Given the description of an element on the screen output the (x, y) to click on. 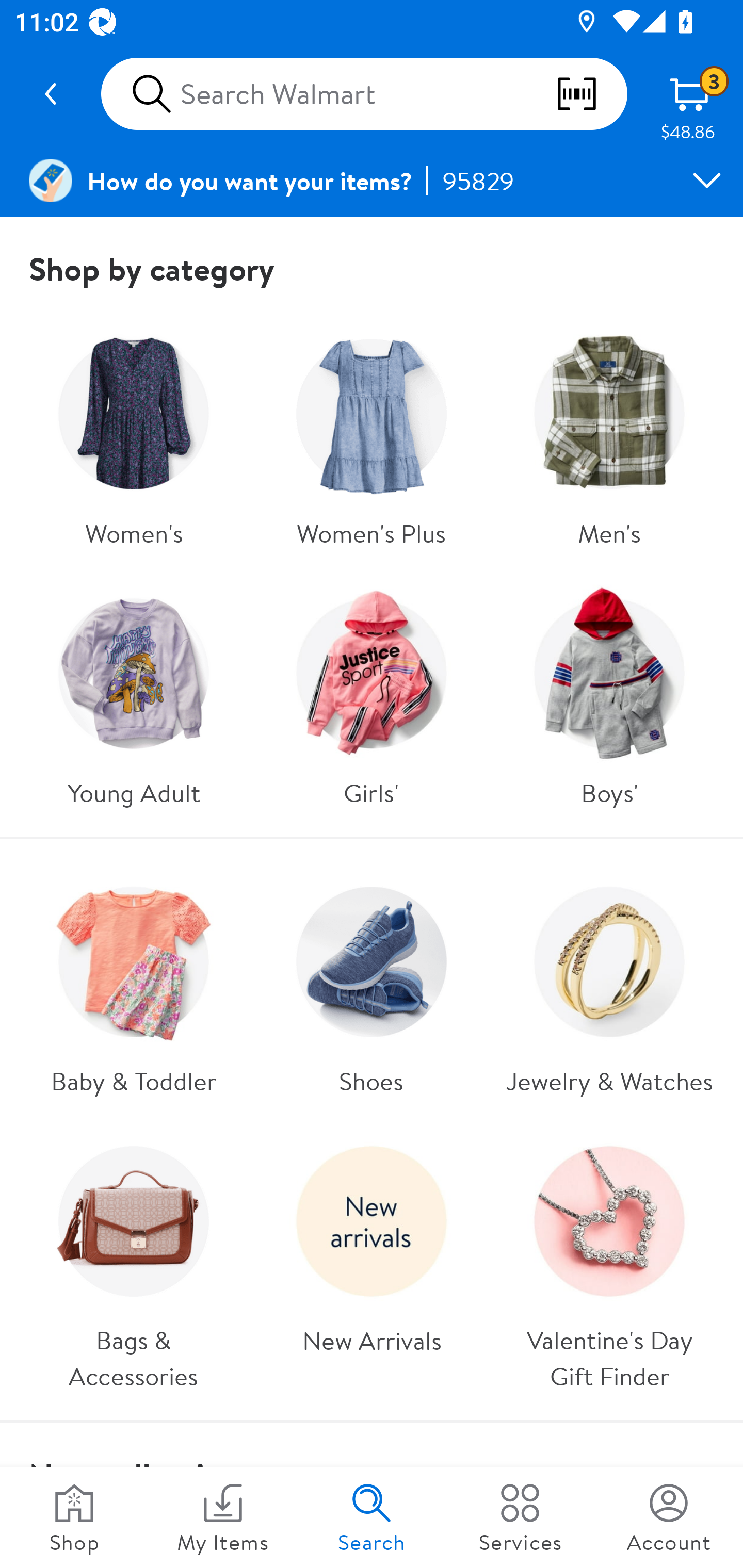
Navigate up (50, 93)
Search Walmart scan barcodes qr codes and more (364, 94)
scan barcodes qr codes and more (591, 94)
Women's (132, 434)
Women's Plus (370, 434)
Men's (609, 434)
Young Adult (132, 695)
Girls' (370, 695)
Boys' (609, 695)
Baby & Toddler (132, 983)
Shoes (370, 983)
Jewelry & Watches (609, 983)
Bags & Accessories (132, 1260)
New Arrivals (370, 1260)
Valentine's Day Gift Finder (609, 1260)
Shop (74, 1517)
My Items (222, 1517)
Services (519, 1517)
Account (668, 1517)
